Given the description of an element on the screen output the (x, y) to click on. 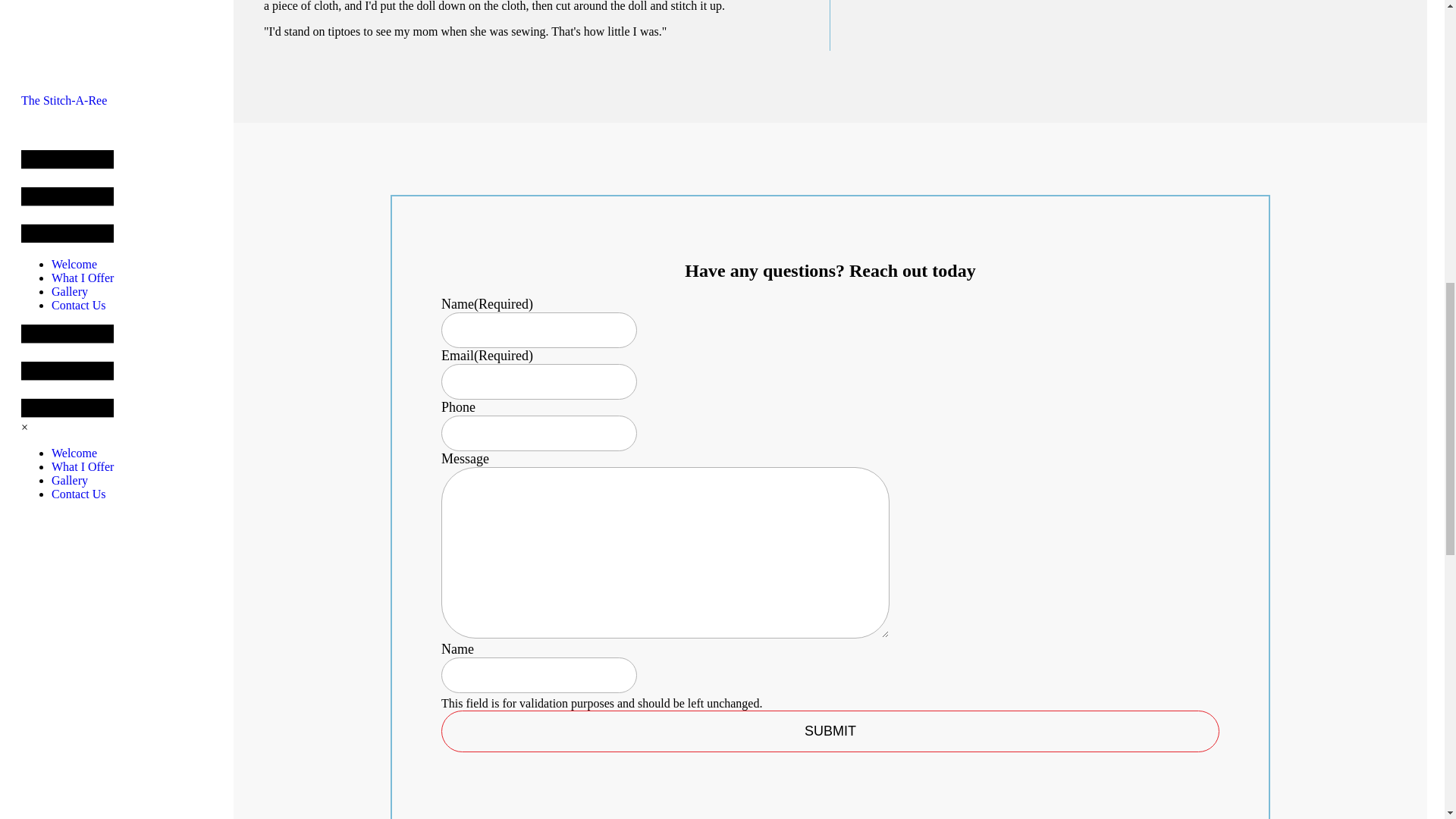
Submit (830, 731)
Submit (830, 731)
